Given the description of an element on the screen output the (x, y) to click on. 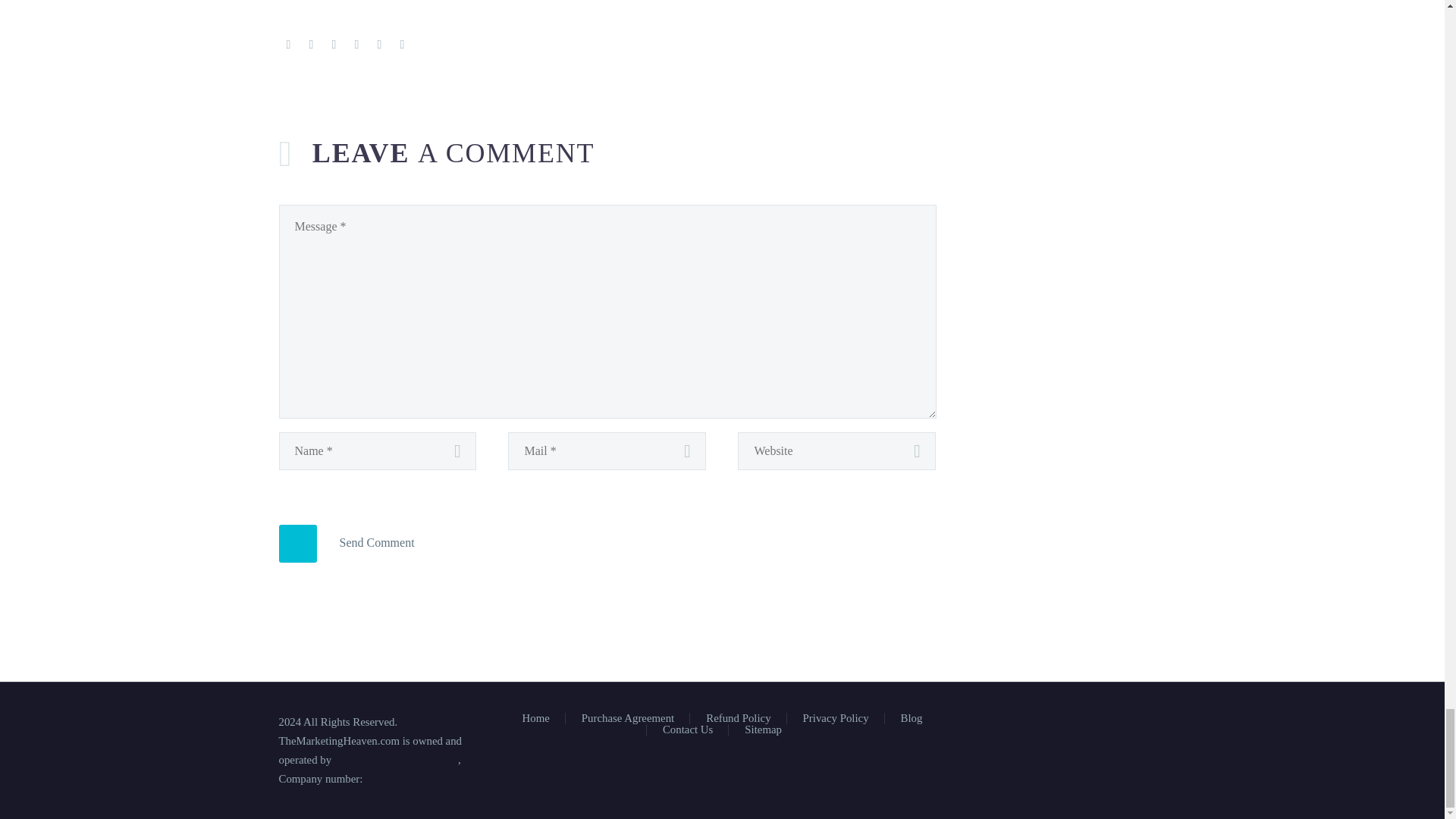
Tumblr (356, 44)
Twitter (310, 44)
Pinterest (333, 44)
Reddit (401, 44)
Facebook (288, 44)
LinkedIn (378, 44)
